Given the description of an element on the screen output the (x, y) to click on. 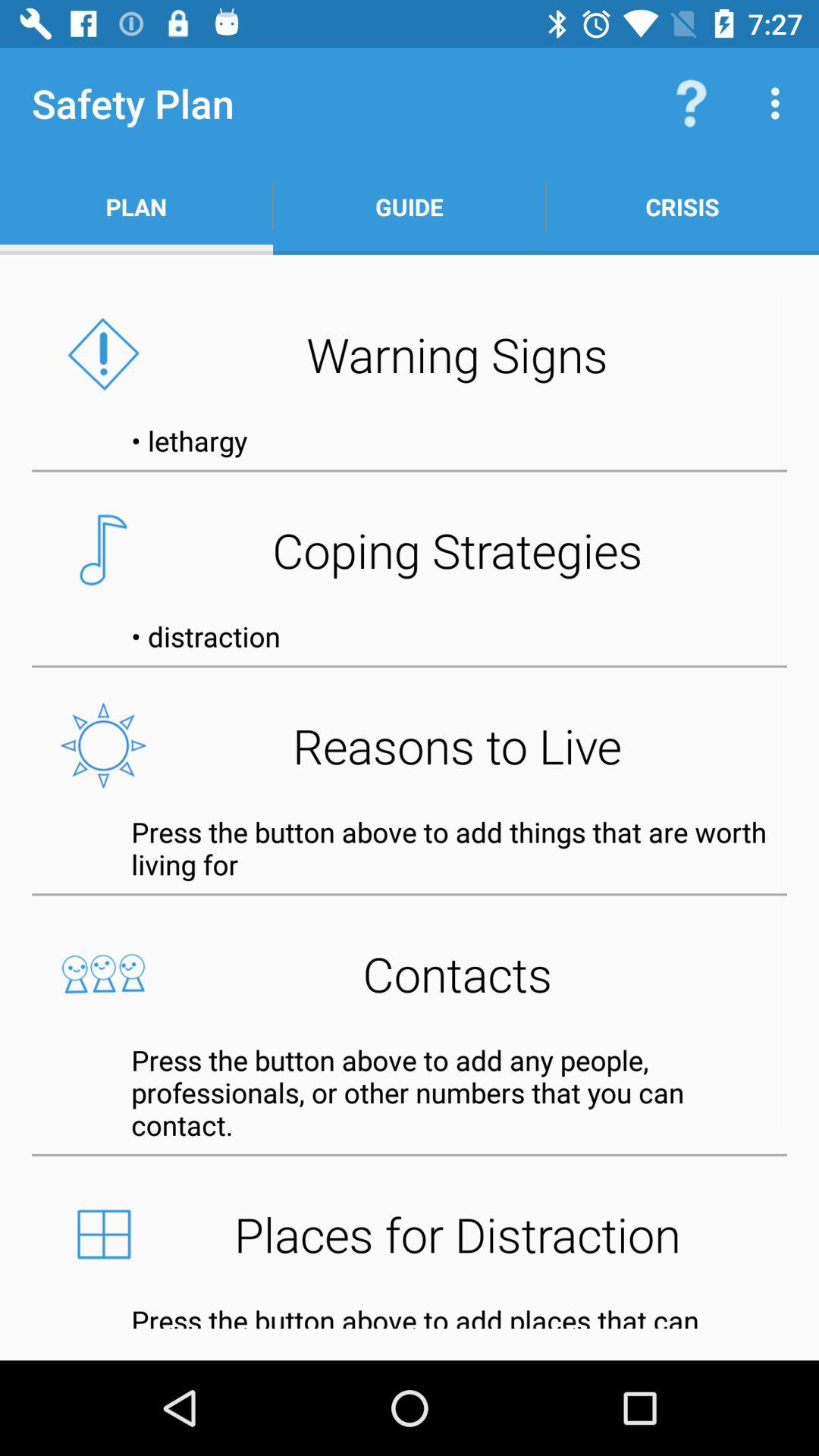
tap the app to the right of the guide item (682, 206)
